Given the description of an element on the screen output the (x, y) to click on. 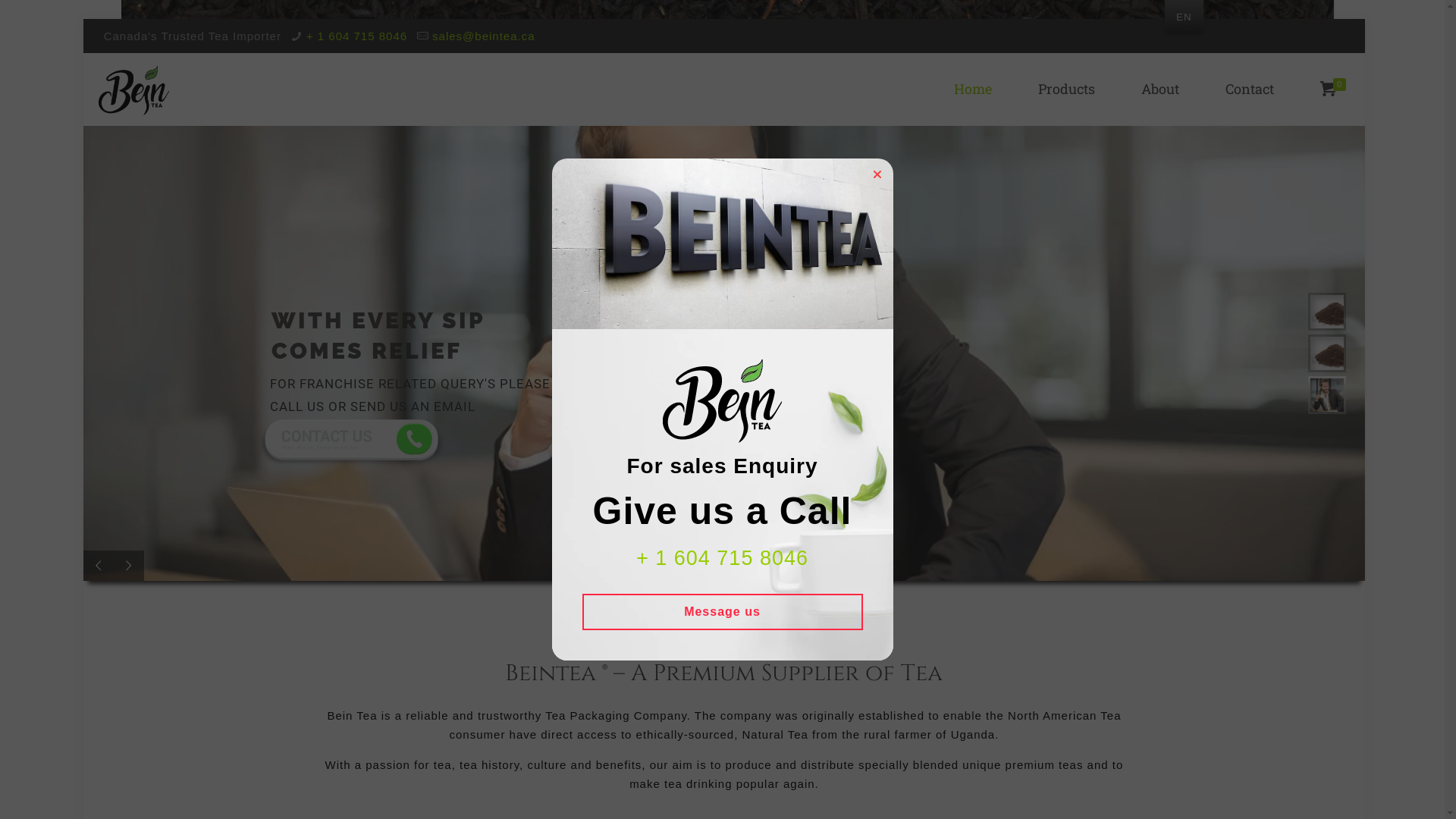
About Element type: text (1160, 89)
Home Element type: text (972, 89)
+ 1 604 715 8046 Element type: text (722, 557)
Products Element type: text (1066, 89)
EN Element type: text (1183, 17)
Contact Element type: text (1249, 89)
sales@beintea.ca Element type: text (483, 35)
+ 1 604 715 8046 Element type: text (356, 35)
Bein Tea Element type: hover (133, 89)
0 Element type: text (1330, 89)
